Given the description of an element on the screen output the (x, y) to click on. 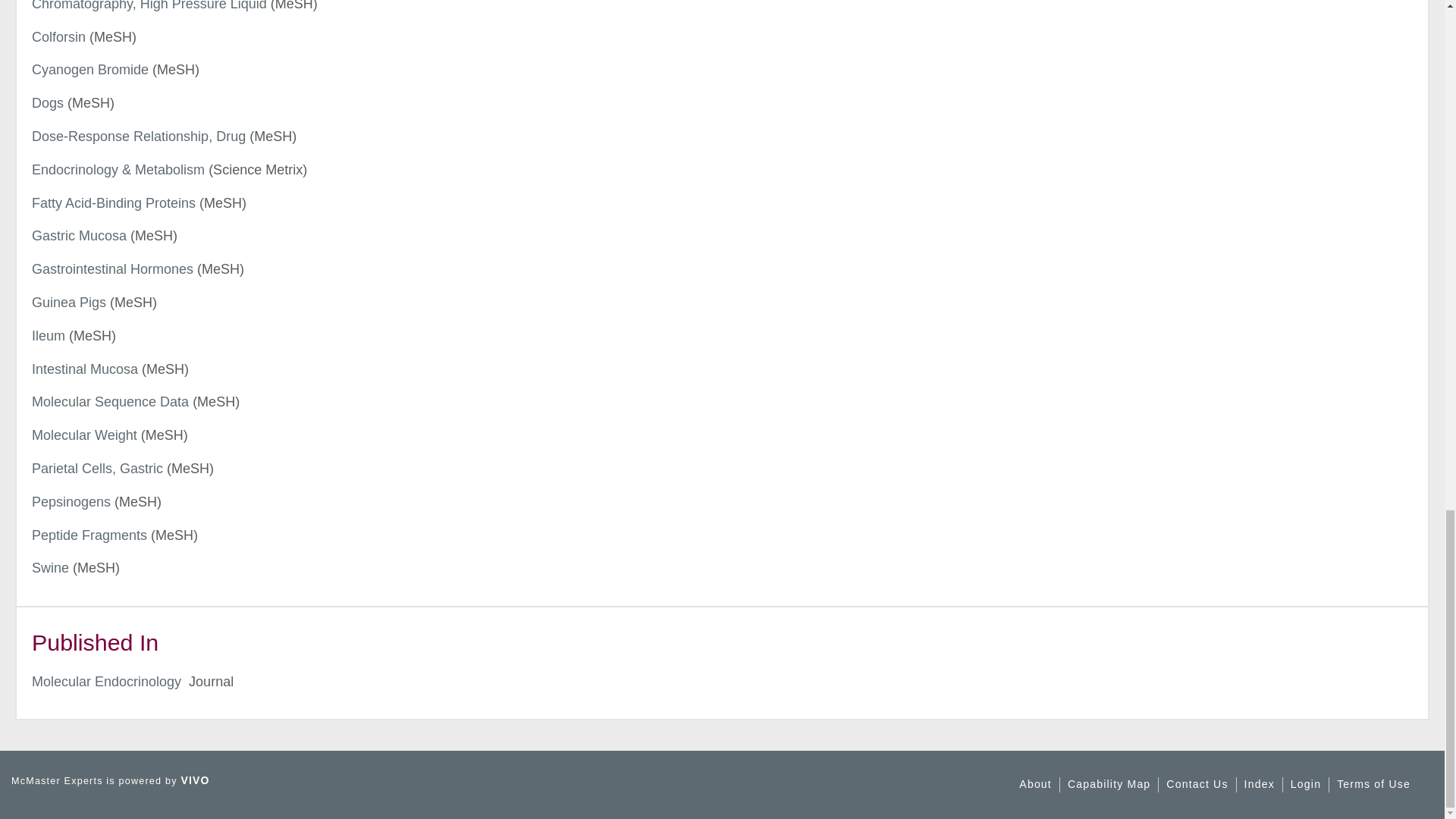
Molecular Endocrinology (106, 681)
Chromatography, High Pressure Liquid (149, 5)
Intestinal Mucosa (85, 368)
Gastric Mucosa (79, 235)
Fatty Acid-Binding Proteins (113, 202)
Pepsinogens (71, 501)
Molecular Sequence Data (110, 401)
Ileum (48, 335)
Parietal Cells, Gastric (97, 468)
Colforsin (58, 37)
Guinea Pigs (69, 302)
Molecular Weight (84, 435)
Swine (50, 567)
Gastrointestinal Hormones (112, 268)
Dose-Response Relationship, Drug (139, 136)
